Given the description of an element on the screen output the (x, y) to click on. 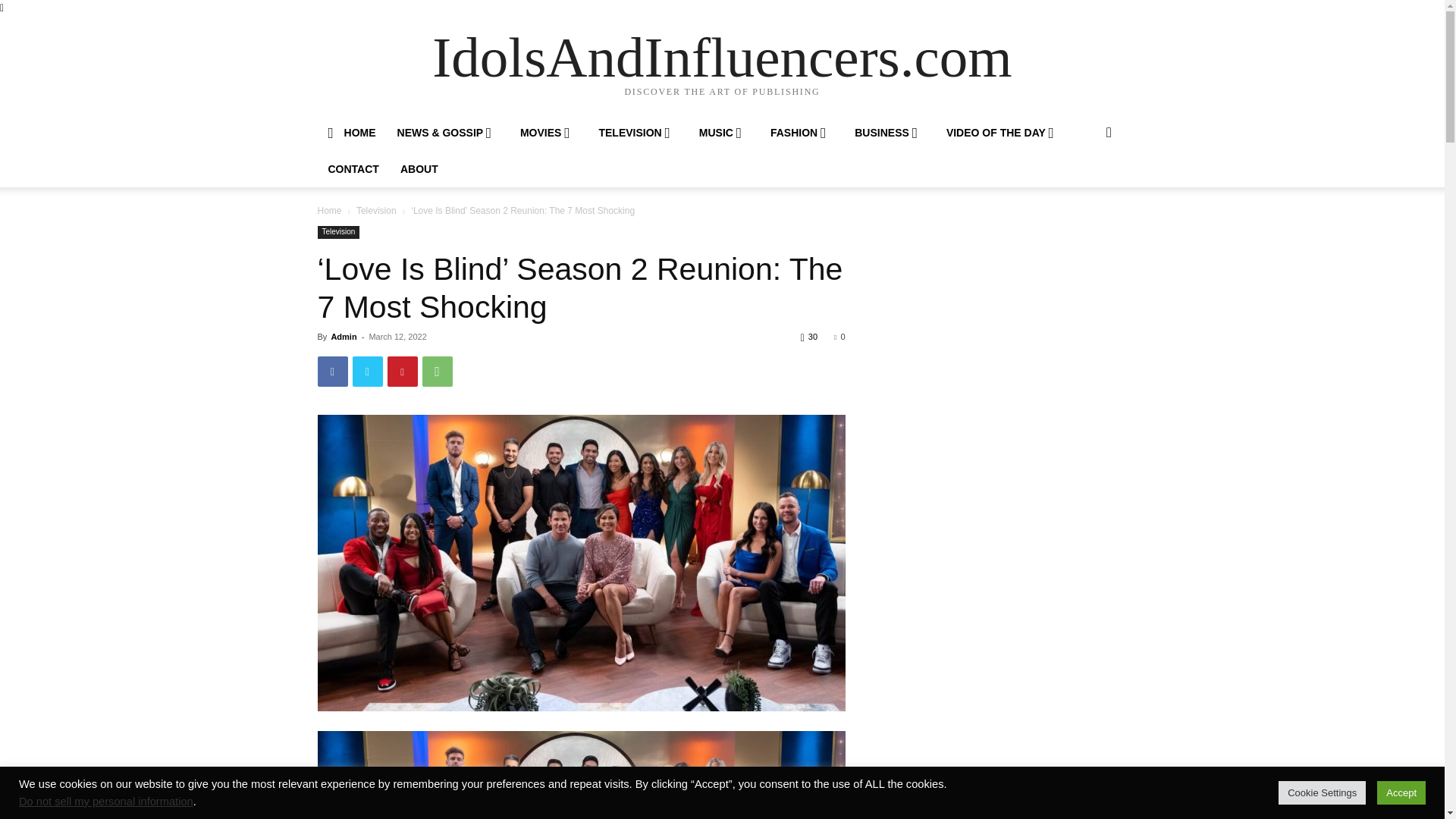
Television (338, 232)
BUSINESS (890, 132)
MUSIC (724, 132)
TELEVISION (637, 132)
IdolsAndInfluencers.com (721, 56)
Home (328, 210)
VIDEO OF THE DAY (1003, 132)
FASHION (802, 132)
ABOUT (419, 168)
MOVIES (548, 132)
Search (1085, 192)
Admin (343, 336)
CONTACT (352, 168)
Television (376, 210)
0 (839, 336)
